Given the description of an element on the screen output the (x, y) to click on. 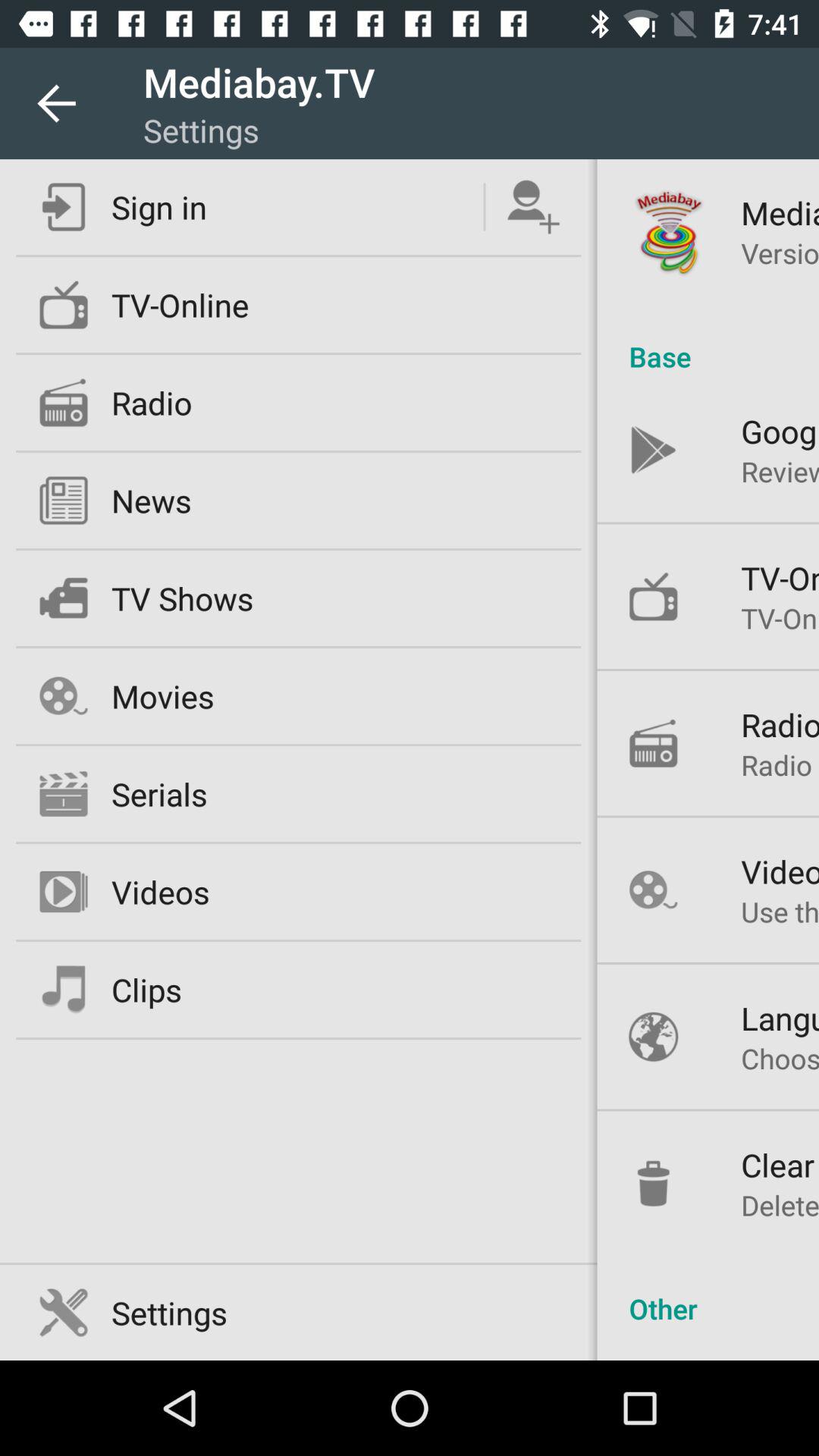
press serials (159, 793)
